Given the description of an element on the screen output the (x, y) to click on. 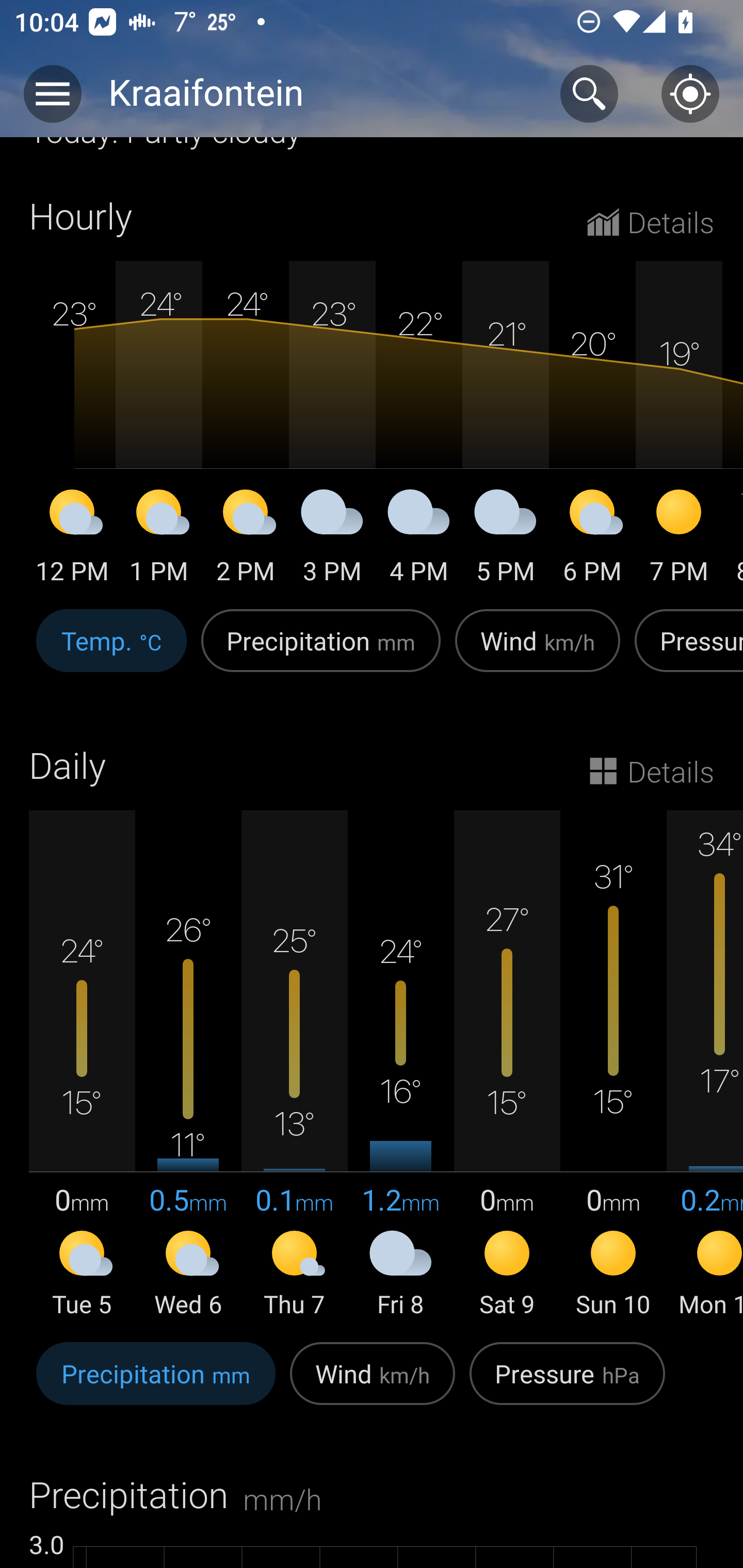
12 PM (71, 540)
1 PM (158, 540)
2 PM (245, 540)
3 PM (332, 540)
4 PM (418, 540)
5 PM (505, 540)
6 PM (592, 540)
7 PM (679, 540)
Temp. °C (110, 651)
Precipitation mm (320, 651)
Wind km/h (537, 651)
Pressure (685, 651)
24° 15° 0 mm Tue 5 (81, 1065)
26° 11° 0.5 mm Wed 6 (188, 1065)
25° 13° 0.1 mm Thu 7 (294, 1065)
24° 16° 1.2 mm Fri 8 (400, 1065)
27° 15° 0 mm Sat 9 (506, 1065)
31° 15° 0 mm Sun 10 (613, 1065)
34° 17° 0.2 mm Mon 11 (704, 1065)
Precipitation mm (155, 1383)
Wind km/h (372, 1383)
Pressure hPa (567, 1383)
